Given the description of an element on the screen output the (x, y) to click on. 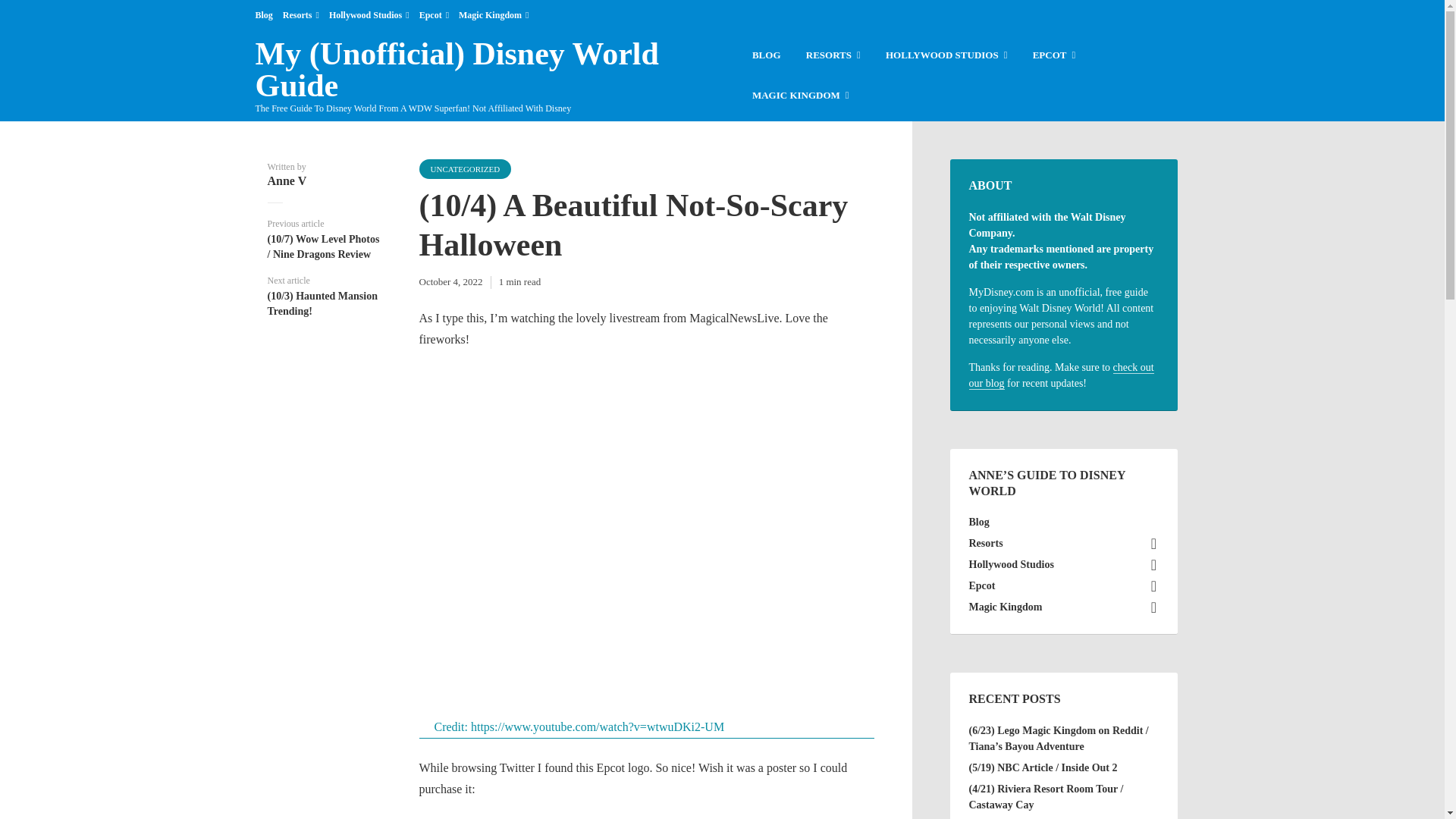
Epcot (433, 15)
HOLLYWOOD STUDIOS (946, 56)
EPCOT (1053, 56)
Resorts (300, 15)
Hollywood Studios (369, 15)
Magic Kingdom (493, 15)
RESORTS (833, 56)
